Given the description of an element on the screen output the (x, y) to click on. 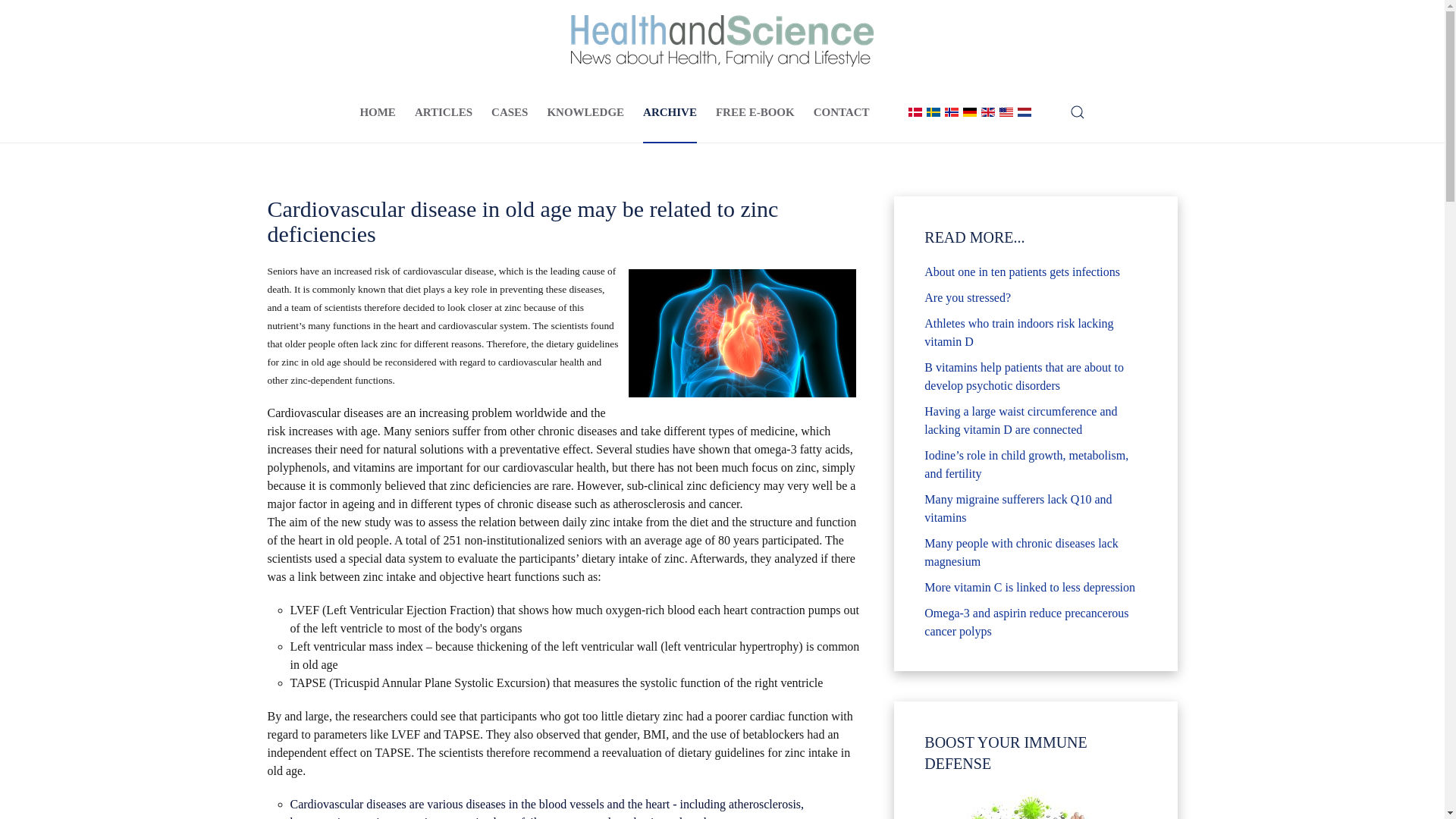
Dansk (914, 112)
ARTICLES (442, 111)
BOOST YOUR IMMUNE DEFENSE (1034, 804)
German (969, 112)
CONTACT (841, 111)
KNOWLEDGE (585, 111)
Dutch (1023, 112)
FREE E-BOOK (755, 111)
